Given the description of an element on the screen output the (x, y) to click on. 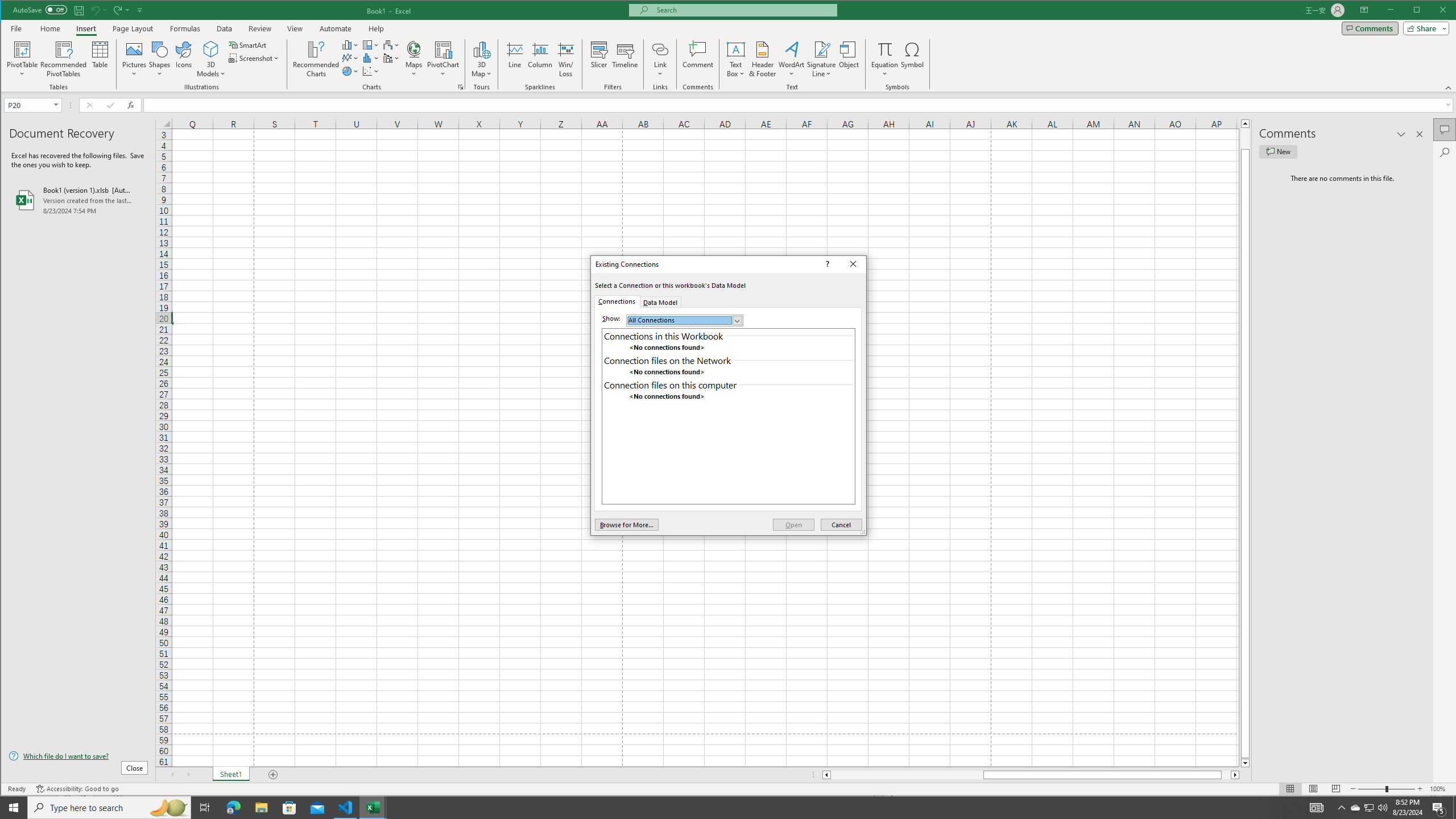
Zoom Out (1372, 788)
Help (376, 28)
